Given the description of an element on the screen output the (x, y) to click on. 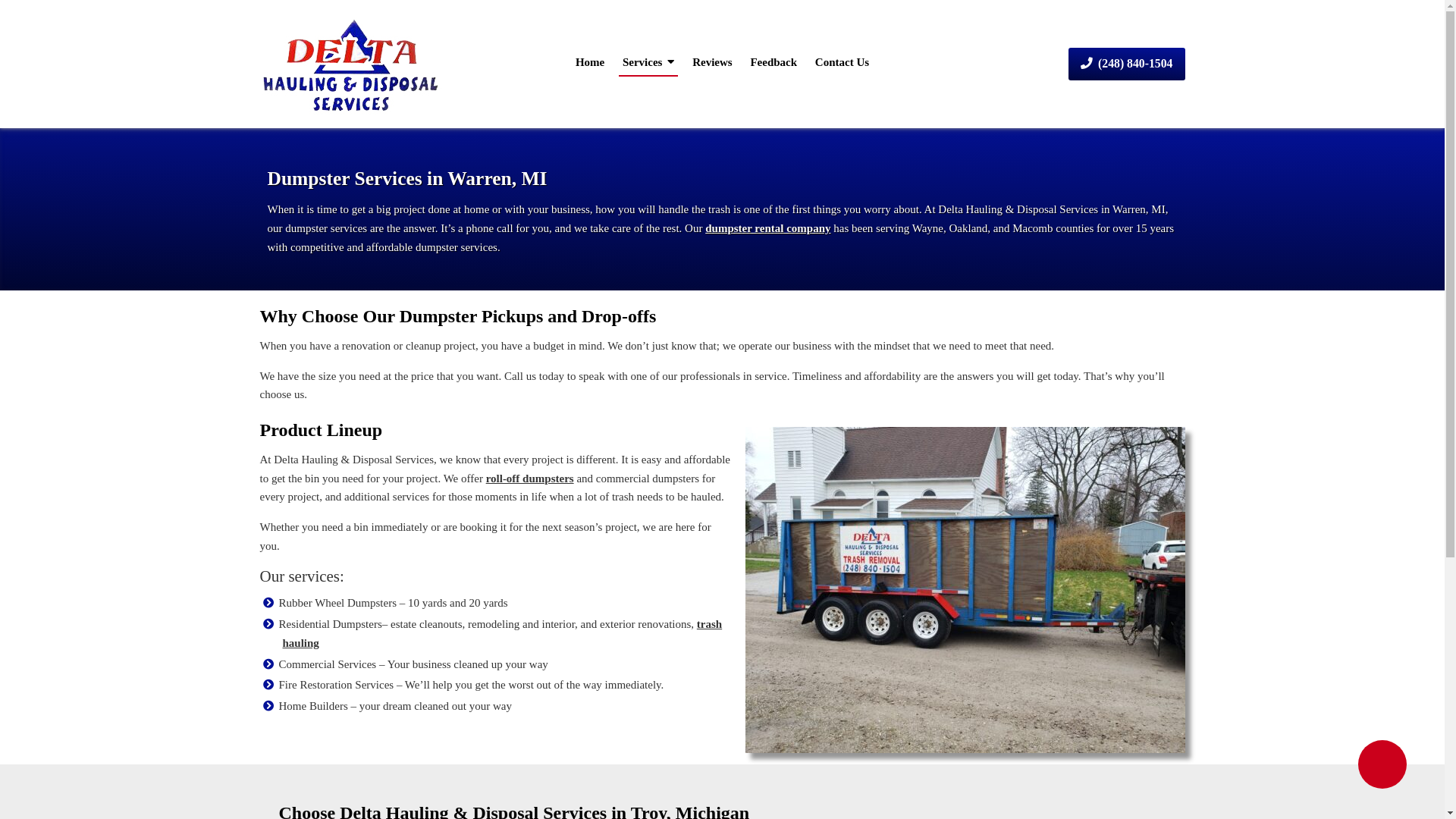
dumpster rental company Element type: text (767, 228)
(248) 840-1504 Element type: text (1126, 64)
Services Element type: text (647, 62)
roll-off dumpsters Element type: text (530, 478)
Home Page Element type: hover (366, 63)
Reviews Element type: text (712, 62)
Contact Us Element type: text (841, 62)
Home Element type: text (589, 62)
Feedback Element type: text (773, 62)
trash hauling Element type: text (501, 633)
